Given the description of an element on the screen output the (x, y) to click on. 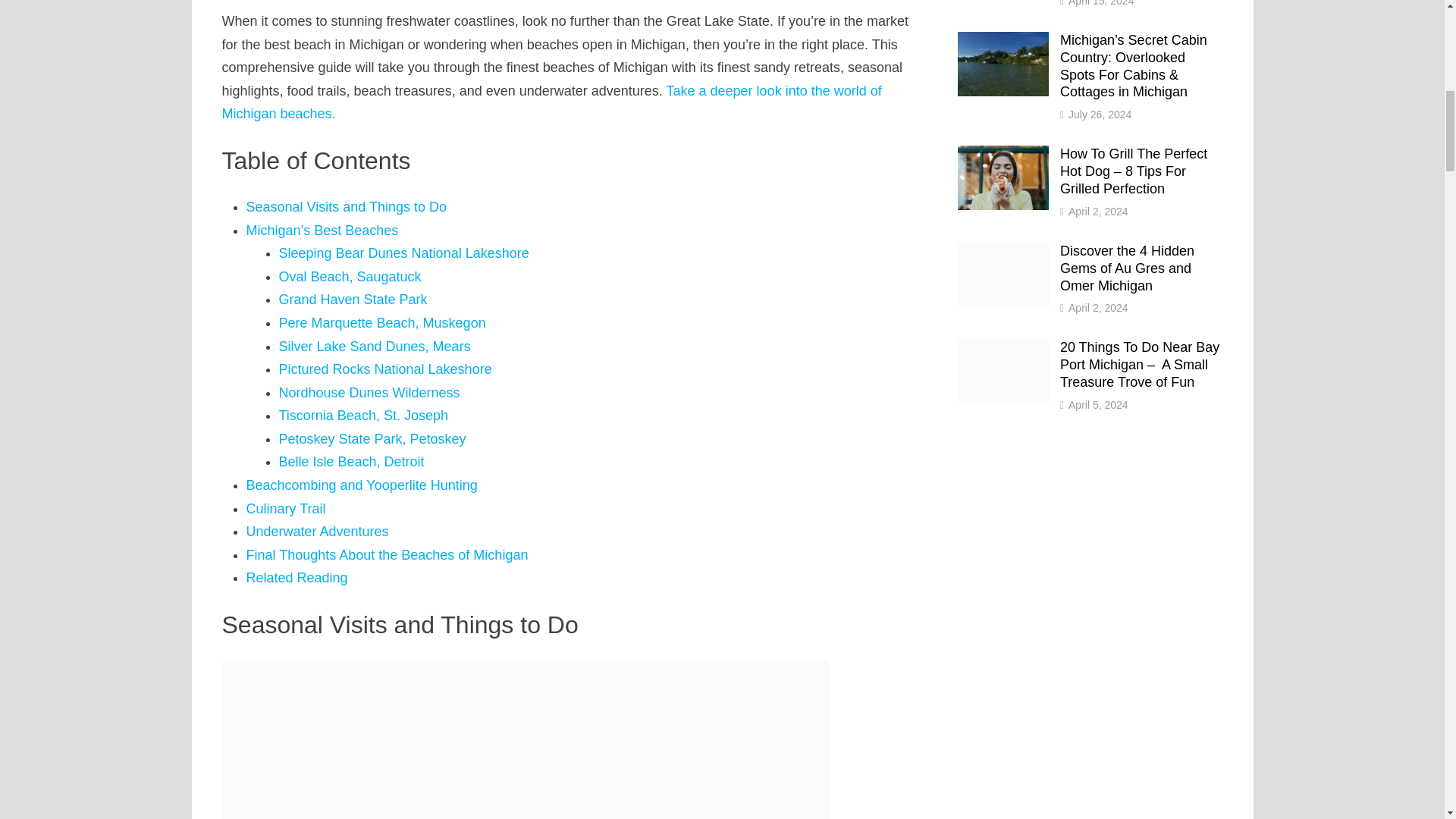
Seasonal Visits and Things to Do (346, 206)
Sleeping Bear Dunes National Lakeshore (404, 253)
Discover the 4 Hidden Gems of Au Gres and Omer Michigan (1003, 252)
Silver Lake Sand Dunes, Mears (374, 345)
Grand Haven State Park (353, 299)
Pictured Rocks National Lakeshore (385, 368)
Pere Marquette Beach, Muskegon (382, 322)
Oval Beach, Saugatuck (350, 276)
Take a deeper look into the world of Michigan beaches. (550, 102)
